Given the description of an element on the screen output the (x, y) to click on. 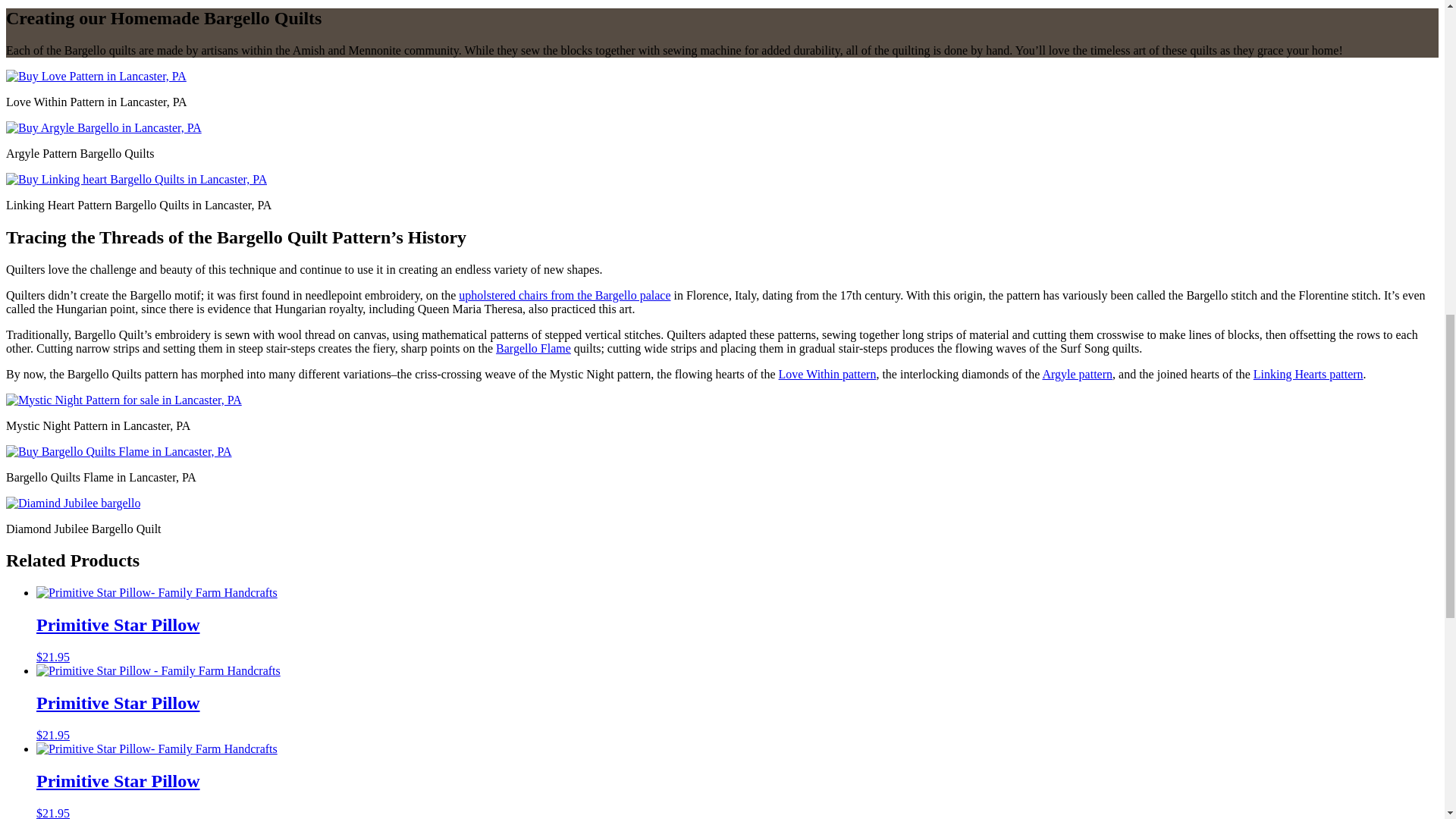
Bargello Flame (533, 347)
upholstered chairs from the Bargello palace (563, 294)
Love Within pattern (827, 373)
Argyle pattern (1077, 373)
